Given the description of an element on the screen output the (x, y) to click on. 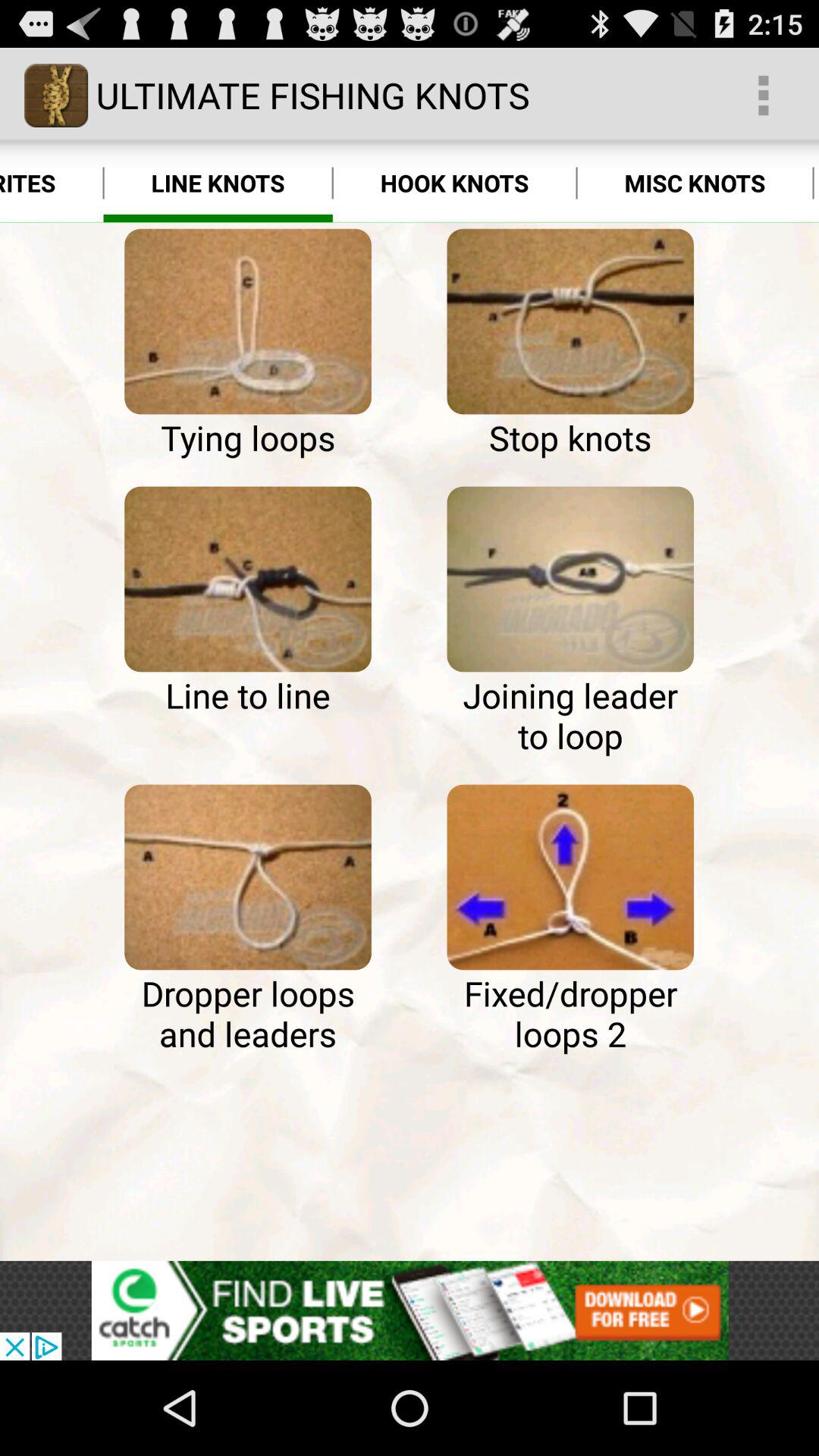
view picture (247, 578)
